Given the description of an element on the screen output the (x, y) to click on. 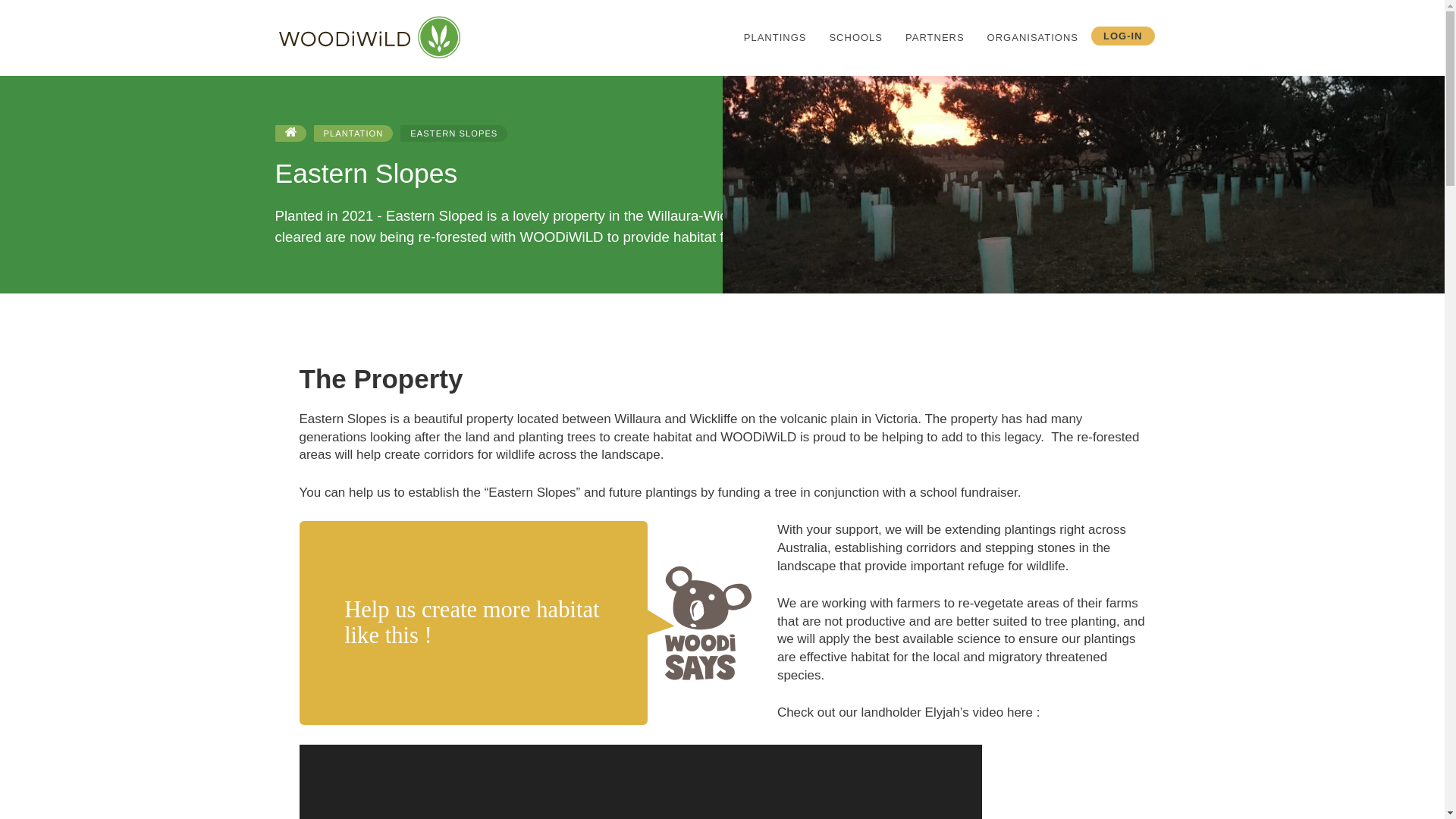
LOG-IN (1121, 35)
PARTNERS (934, 37)
ORGANISATIONS (1032, 37)
PLANTINGS (775, 37)
PLANTATION (353, 133)
SCHOOLS (854, 37)
